Given the description of an element on the screen output the (x, y) to click on. 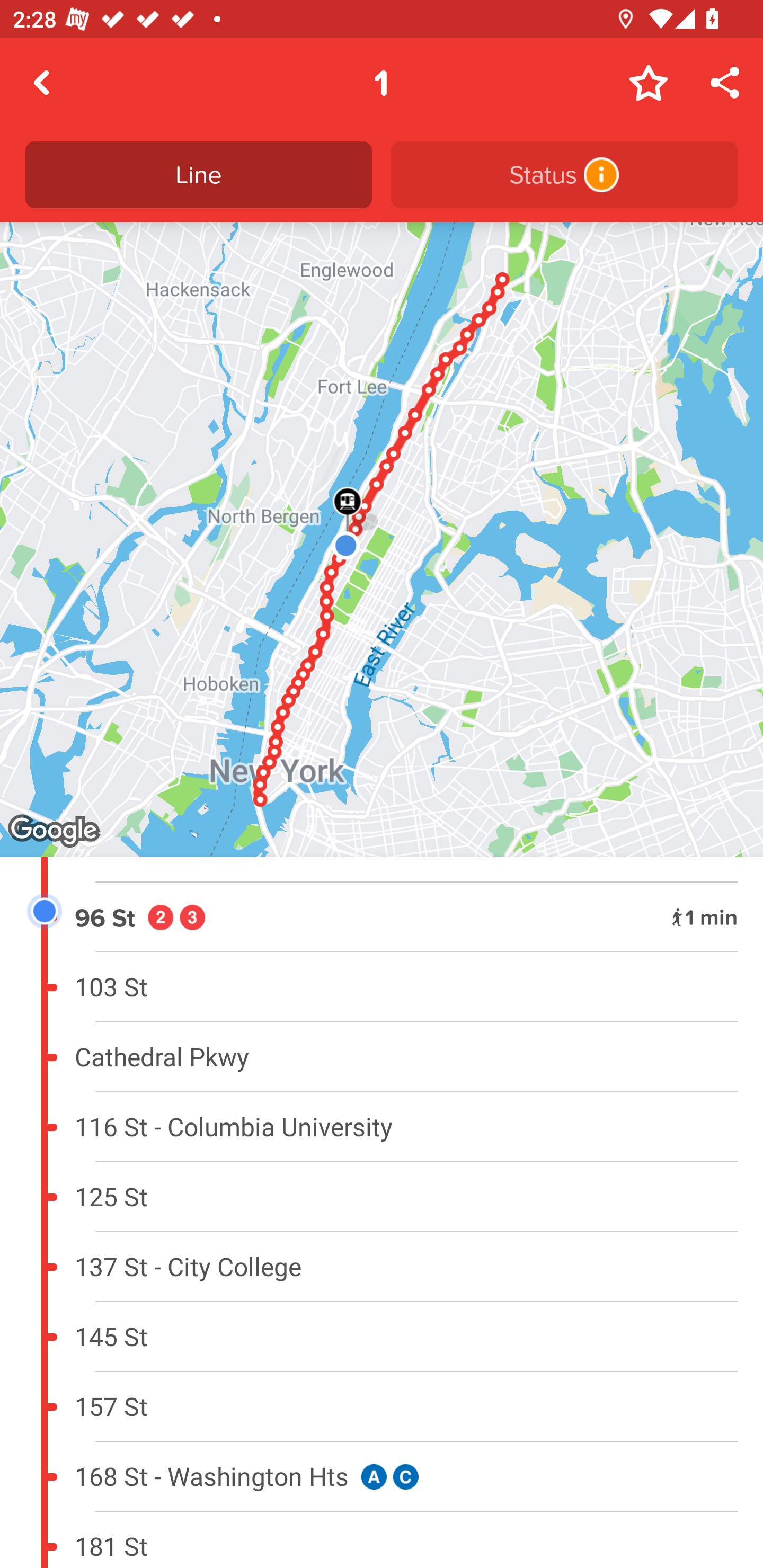
Status (563, 174)
